Given the description of an element on the screen output the (x, y) to click on. 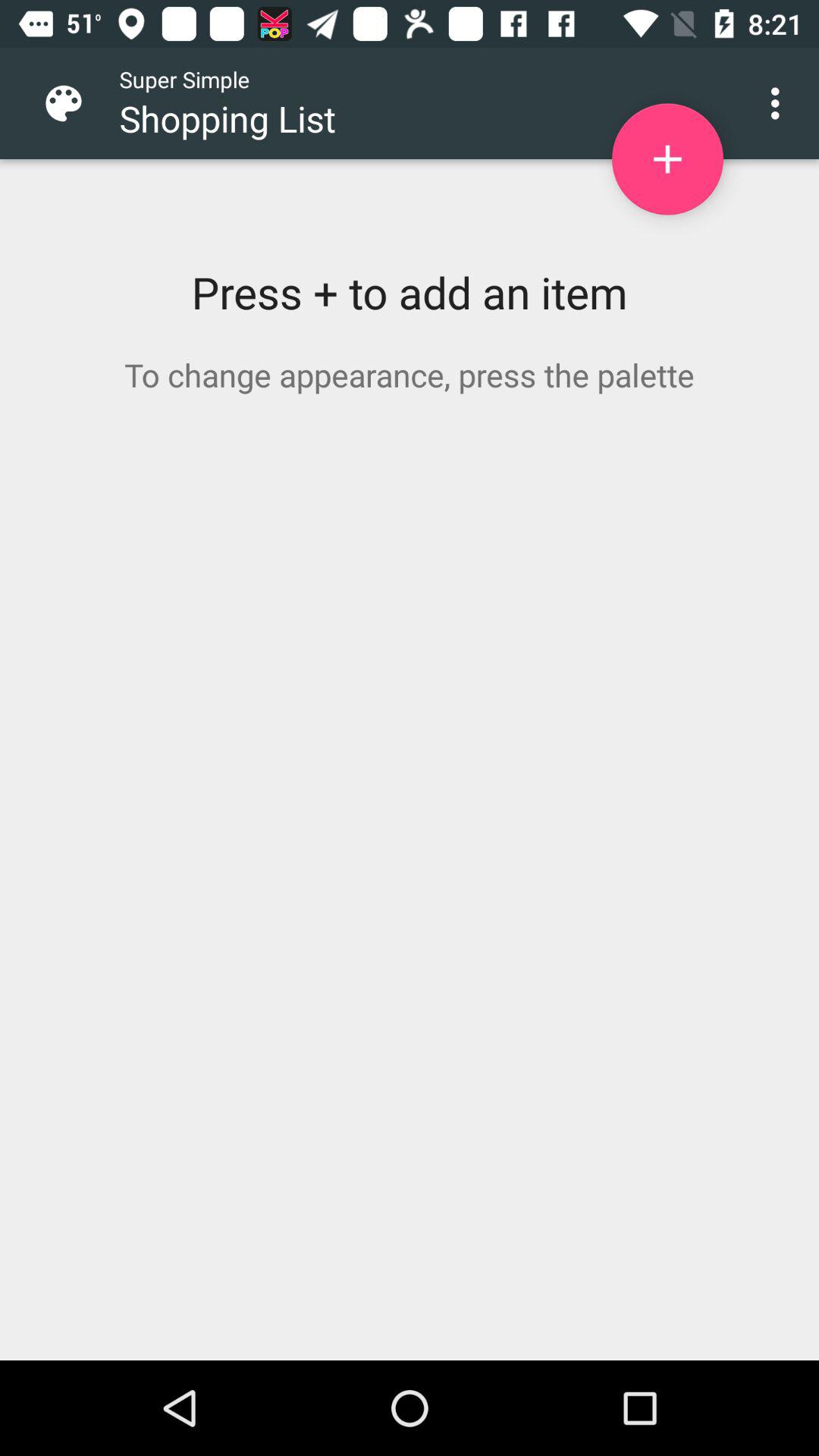
launch the icon to the left of super simple item (75, 103)
